Given the description of an element on the screen output the (x, y) to click on. 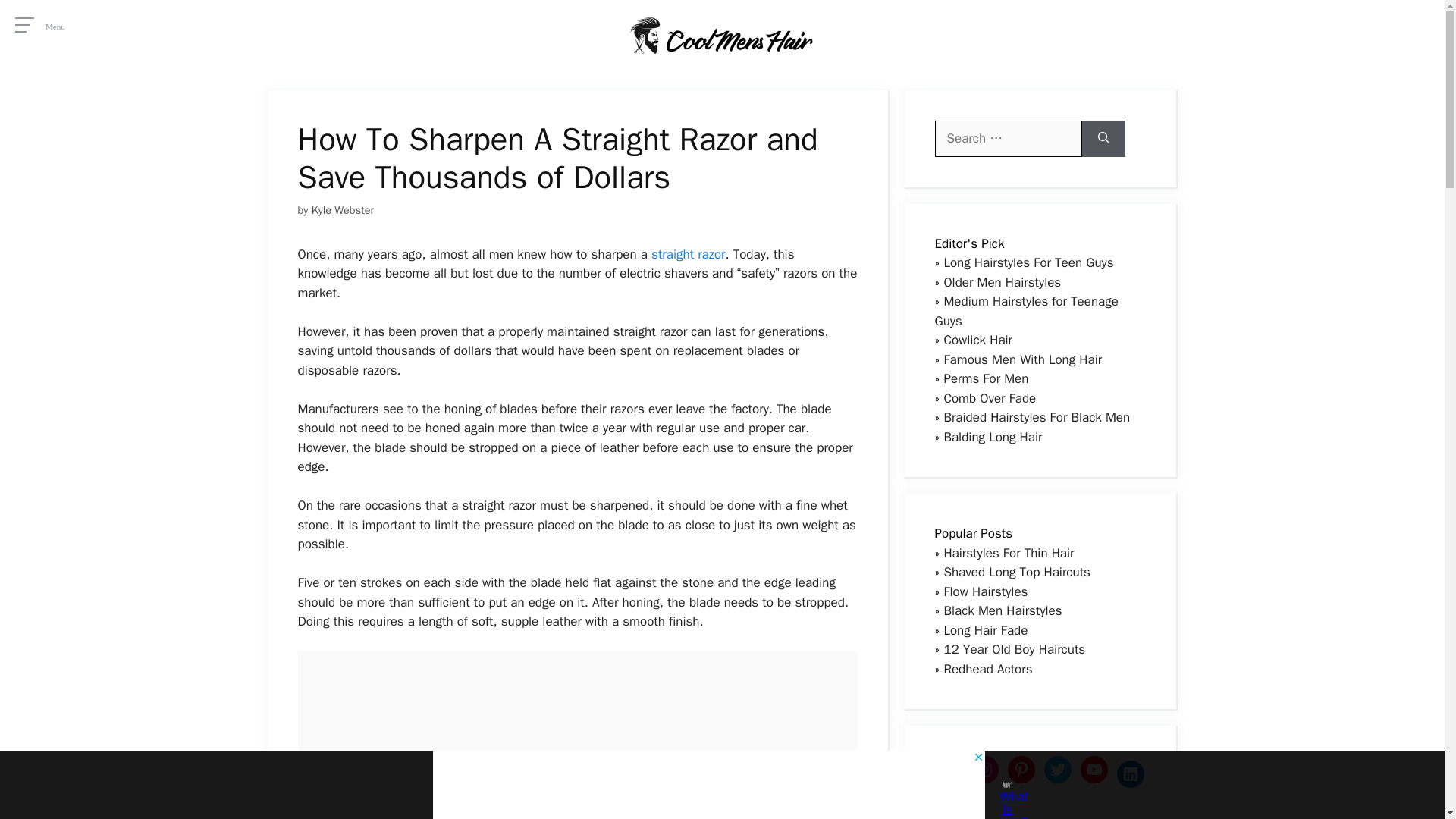
Shaved Long Top Haircuts (1016, 571)
View all posts by Kyle Webster (342, 210)
Older Men Hairstyles (1002, 282)
3rd party ad content (577, 734)
Comb Over Fade (989, 397)
Braided Hairstyles For Black Men (1036, 417)
Kyle Webster (342, 210)
Long Hairstyles For Teen Guys (1028, 262)
Perms For Men (985, 378)
Flow Hairstyles (985, 591)
Balding Long Hair (992, 437)
Cowlick Hair (977, 340)
Medium Hairstyles for Teenage Guys (1026, 311)
Black Men Hairstyles (1002, 610)
Famous Men With Long Hair (1022, 359)
